Given the description of an element on the screen output the (x, y) to click on. 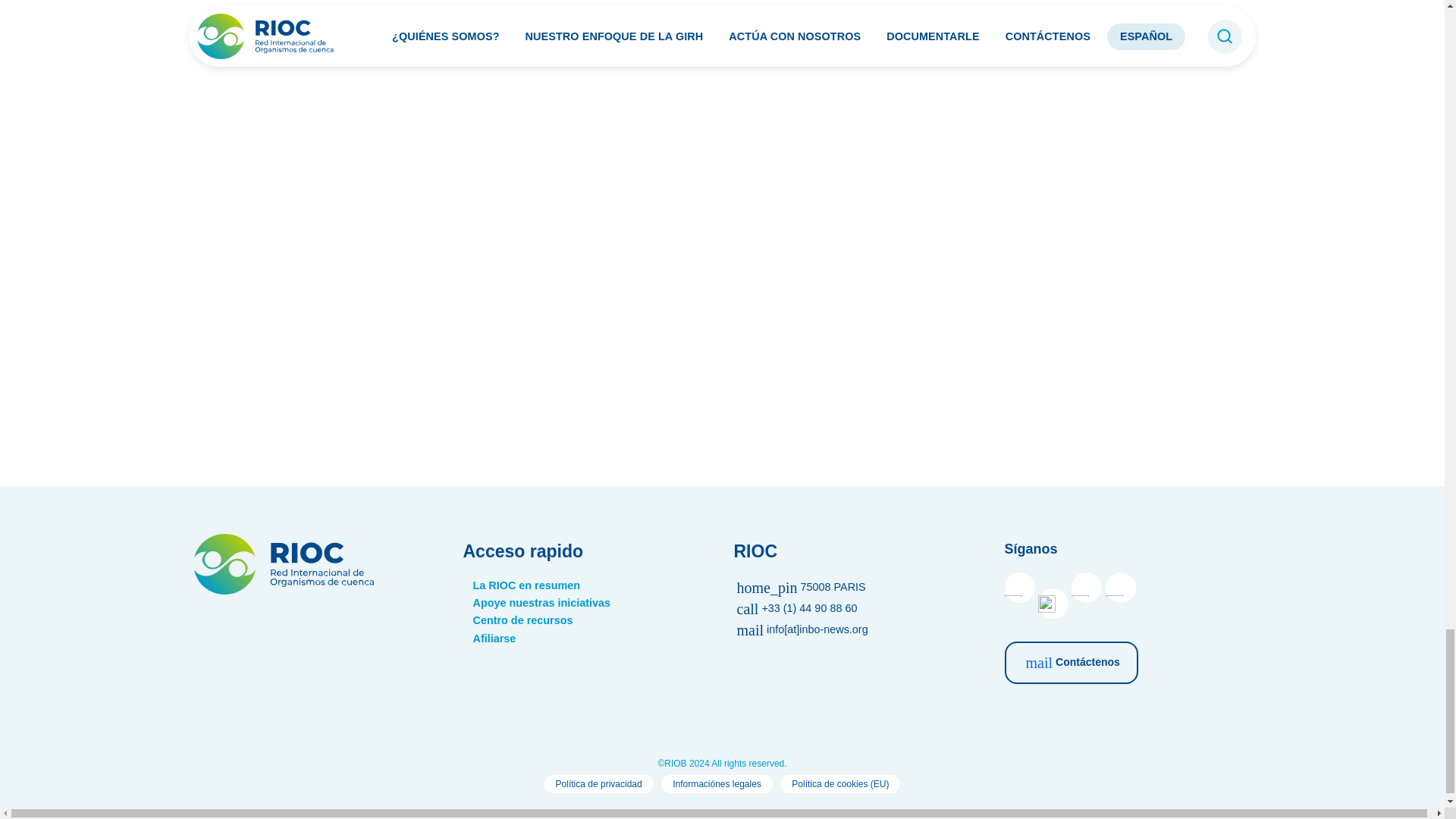
RIOC (286, 590)
